Given the description of an element on the screen output the (x, y) to click on. 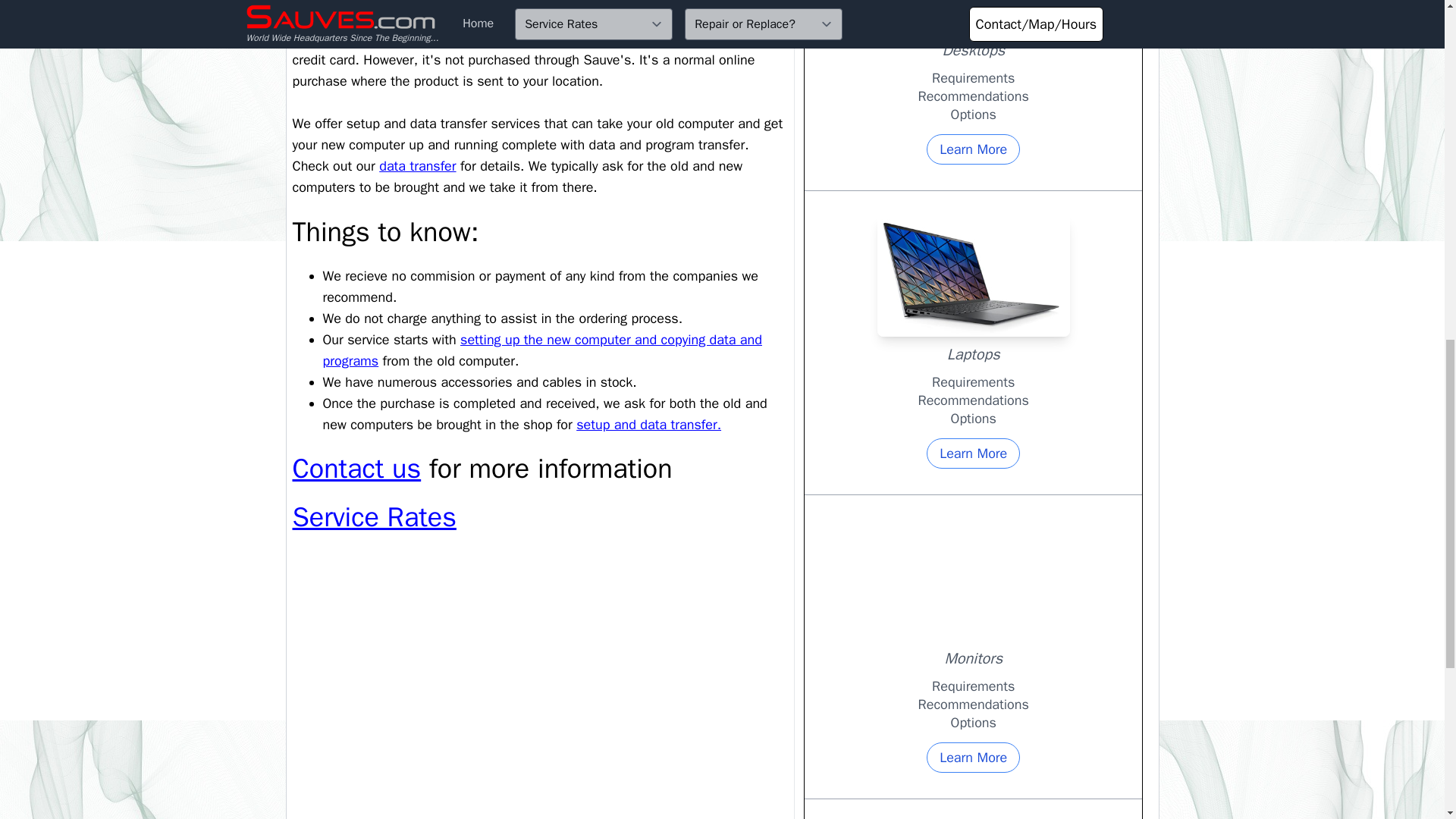
Contact us (357, 468)
Learn More (973, 149)
setting up the new computer and copying data and programs (542, 350)
Service Rates (374, 516)
Monitors (379, 2)
More... (374, 17)
Learn More (973, 757)
Learn More (973, 453)
setup and data transfer. (648, 424)
data transfer (416, 166)
